Given the description of an element on the screen output the (x, y) to click on. 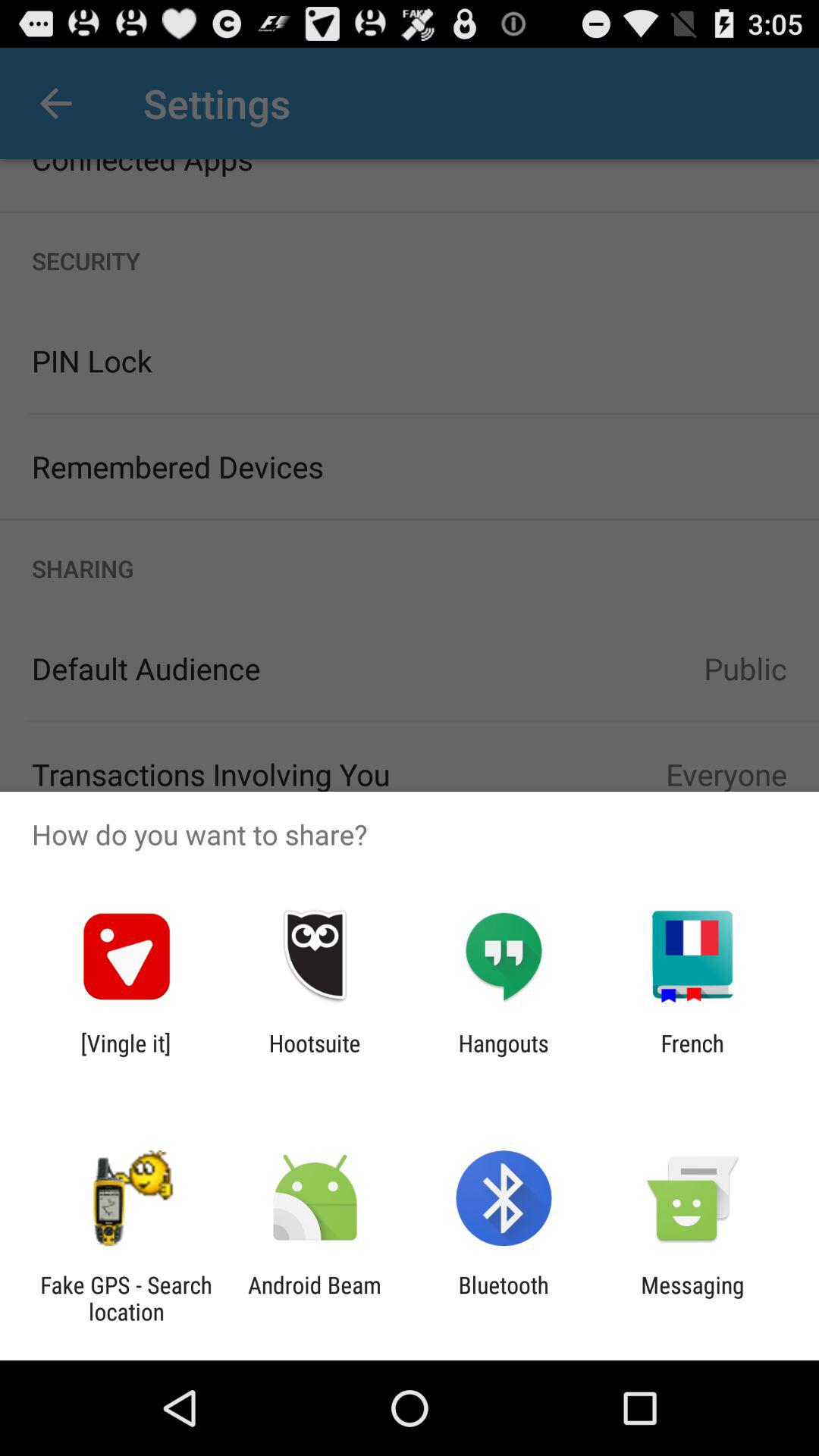
launch the icon to the right of the fake gps search app (314, 1298)
